Given the description of an element on the screen output the (x, y) to click on. 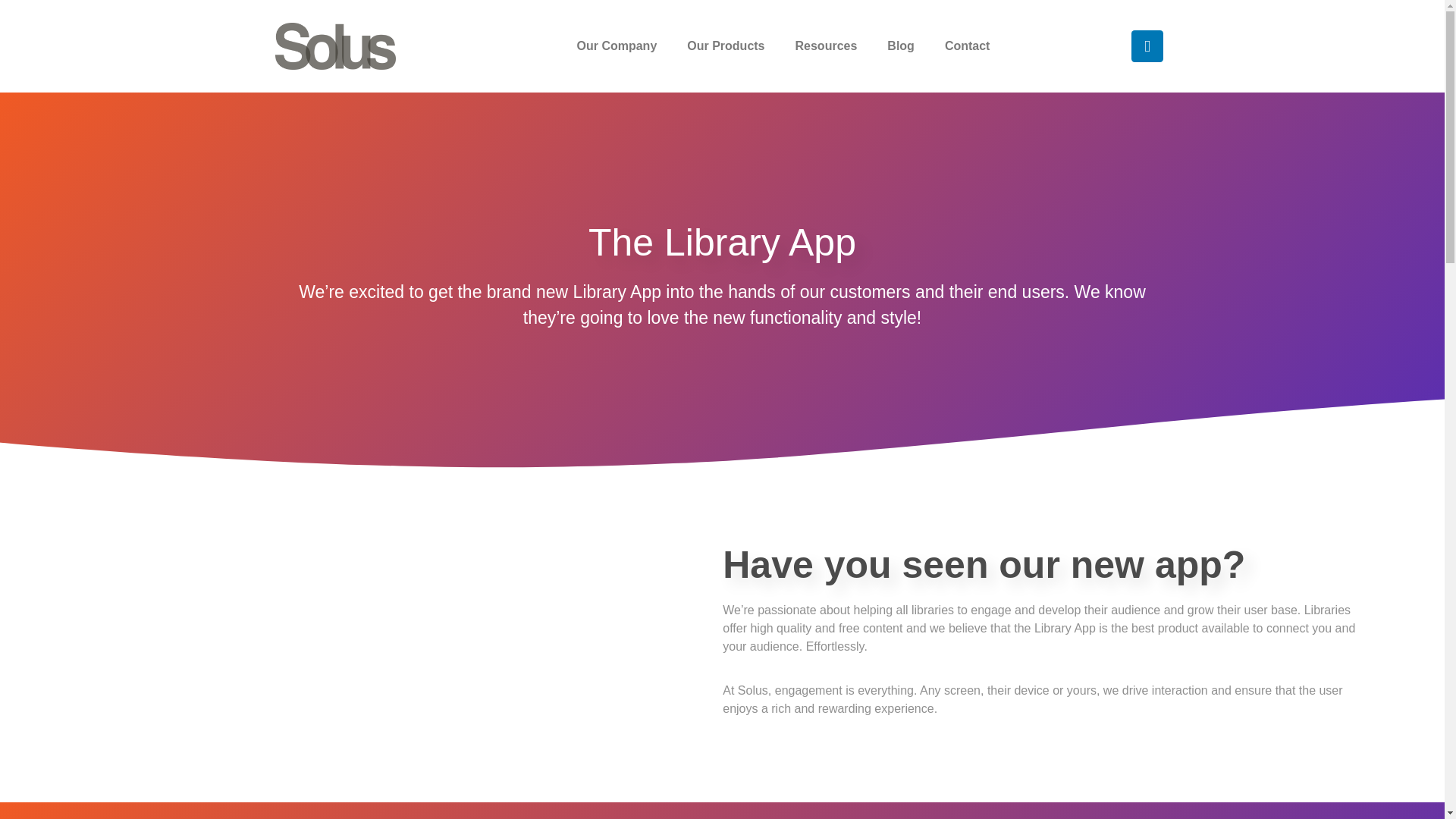
Our Products (724, 45)
Blog (901, 45)
Resources (826, 45)
Our Company (615, 45)
Contact (968, 45)
